Given the description of an element on the screen output the (x, y) to click on. 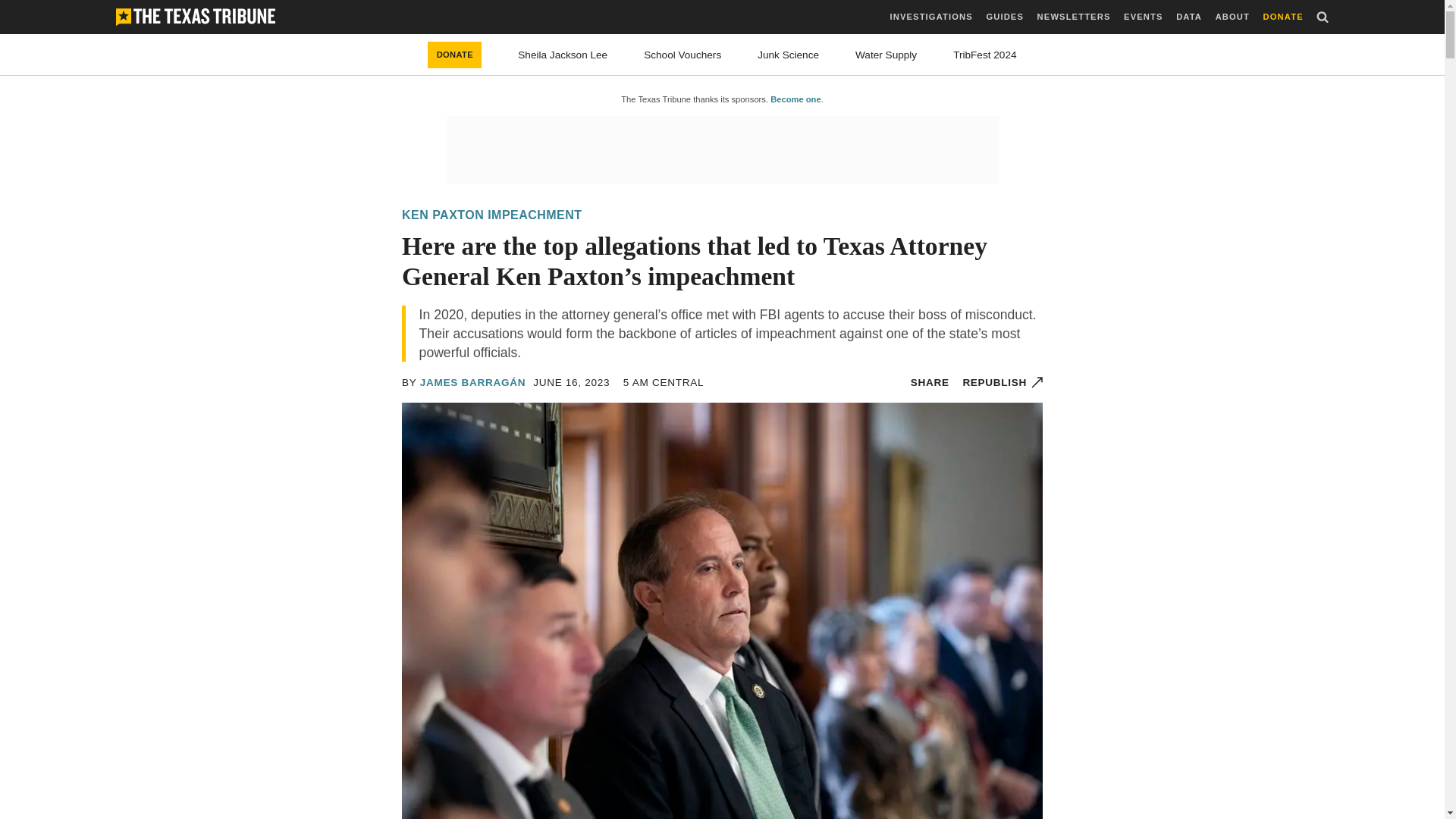
School Vouchers (681, 54)
2023-06-16 05:00 CDT (571, 382)
DONATE (1283, 17)
Sheila Jackson Lee (562, 54)
Junk Science (787, 54)
GUIDES (1004, 17)
ABOUT (1232, 17)
Become one (795, 99)
DONATE (454, 54)
INVESTIGATIONS (930, 17)
EVENTS (1142, 17)
Water Supply (886, 54)
NEWSLETTERS (1073, 17)
3rd party ad content (721, 150)
TribFest 2024 (984, 54)
